Given the description of an element on the screen output the (x, y) to click on. 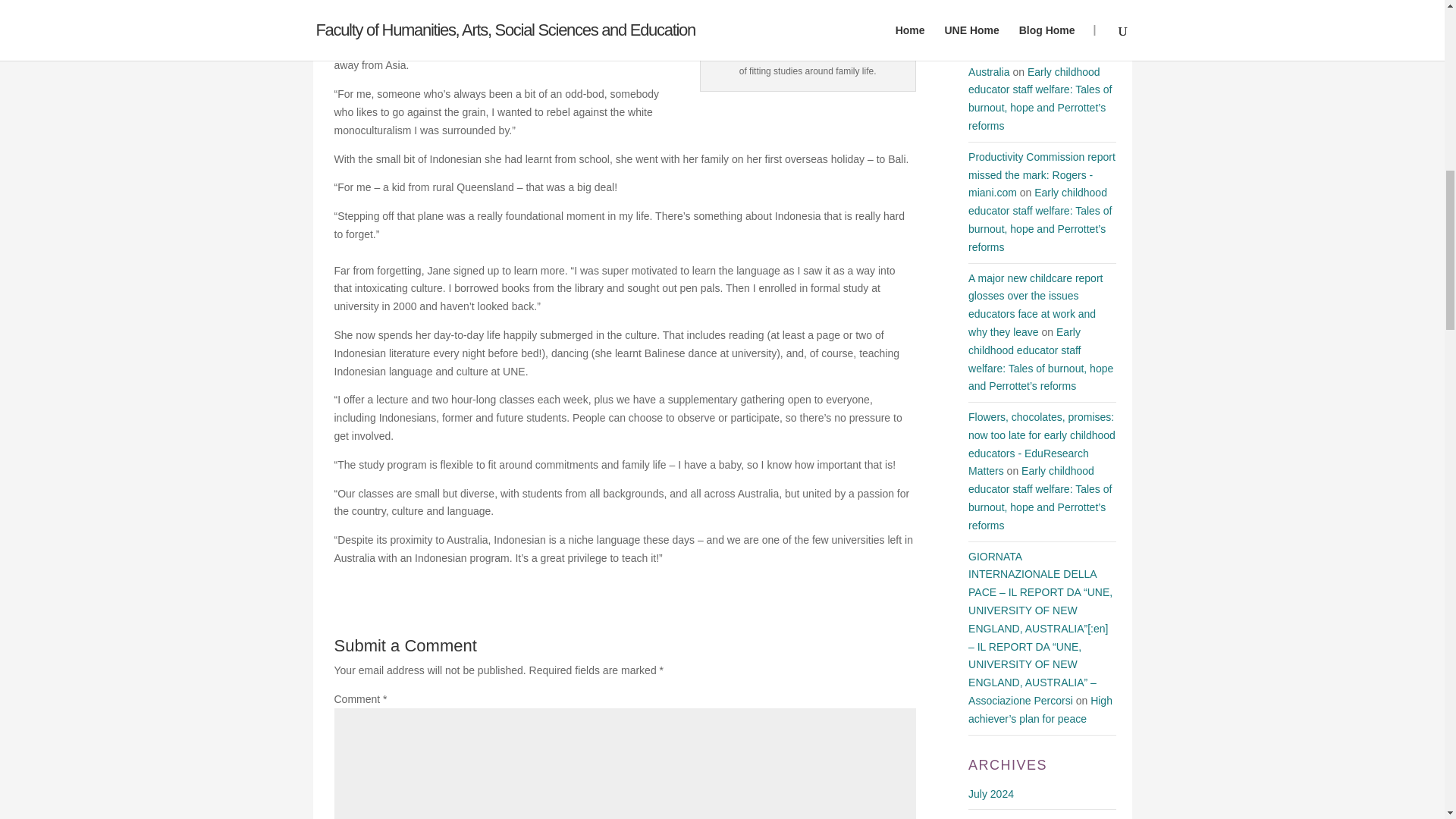
June 2024 (992, 818)
July 2024 (990, 793)
